Given the description of an element on the screen output the (x, y) to click on. 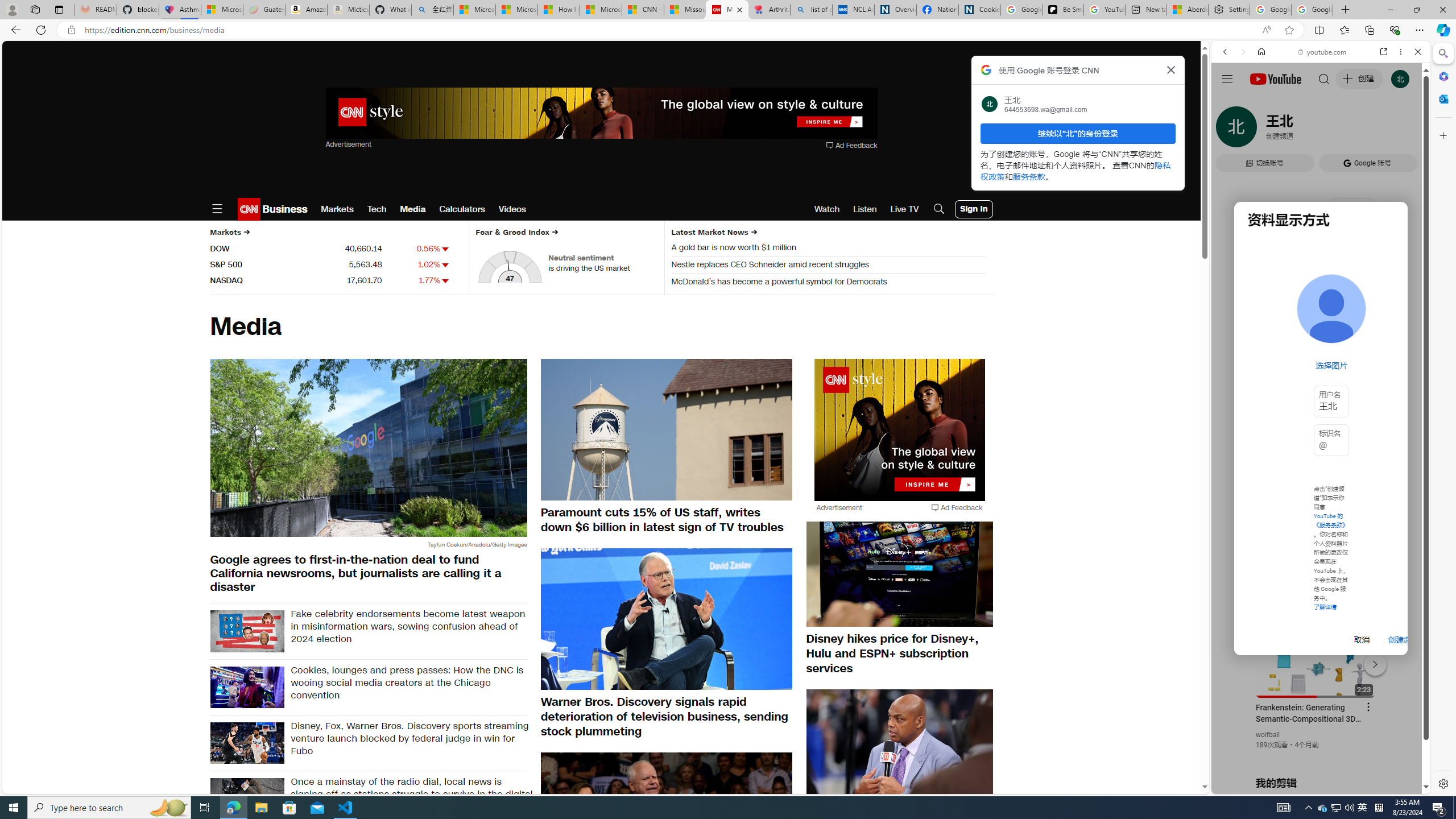
Search Filter, IMAGES (1262, 129)
Media | CNN Business (726, 9)
Class: b_serphb (1404, 130)
list of asthma inhalers uk - Search (810, 9)
